Given the description of an element on the screen output the (x, y) to click on. 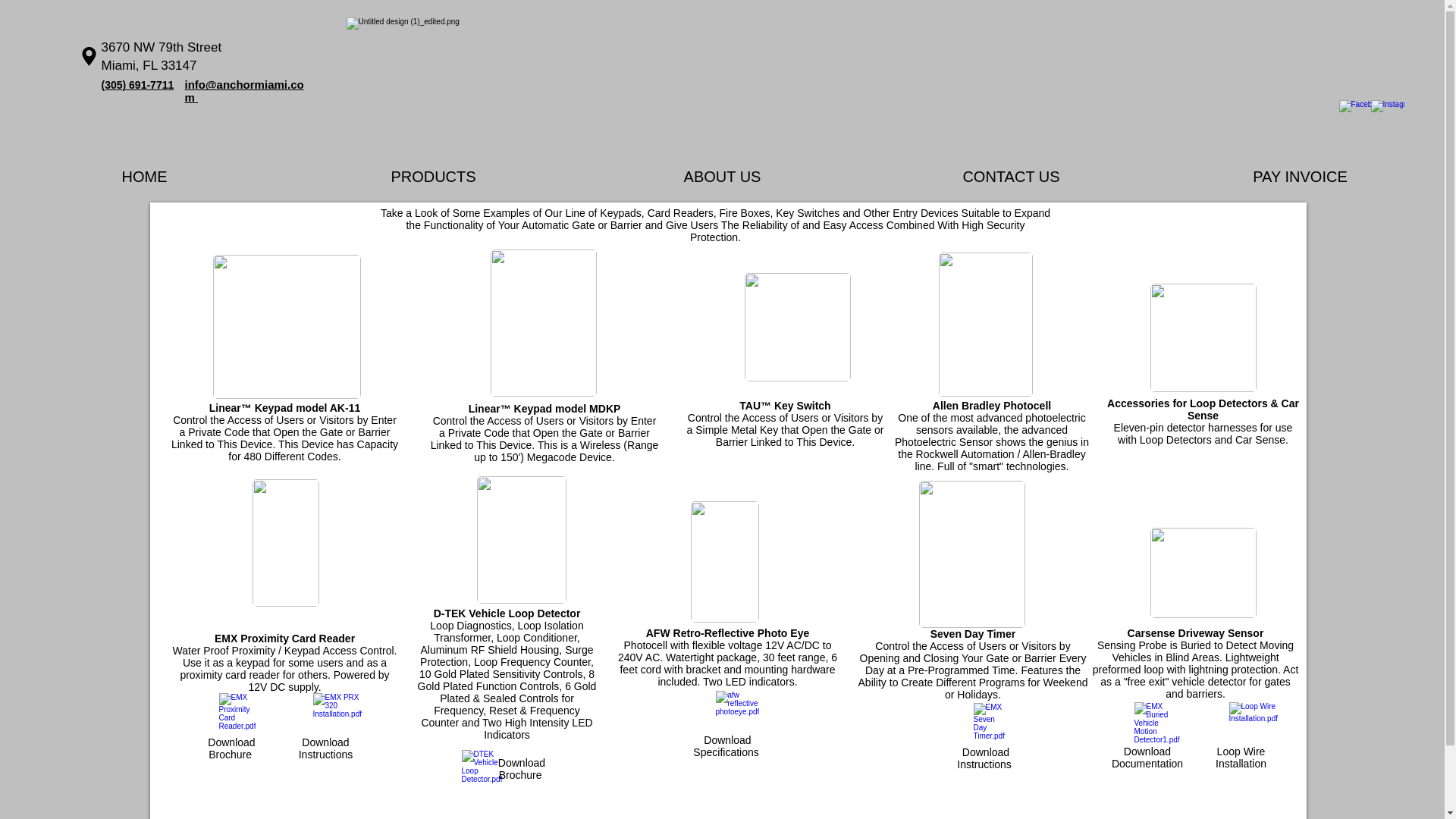
CONTACT US (1011, 176)
ABOUT US (722, 176)
3670 NW 79th Street (161, 47)
HOME (144, 176)
Miami, FL 33147 (148, 65)
PRODUCTS (433, 176)
